Given the description of an element on the screen output the (x, y) to click on. 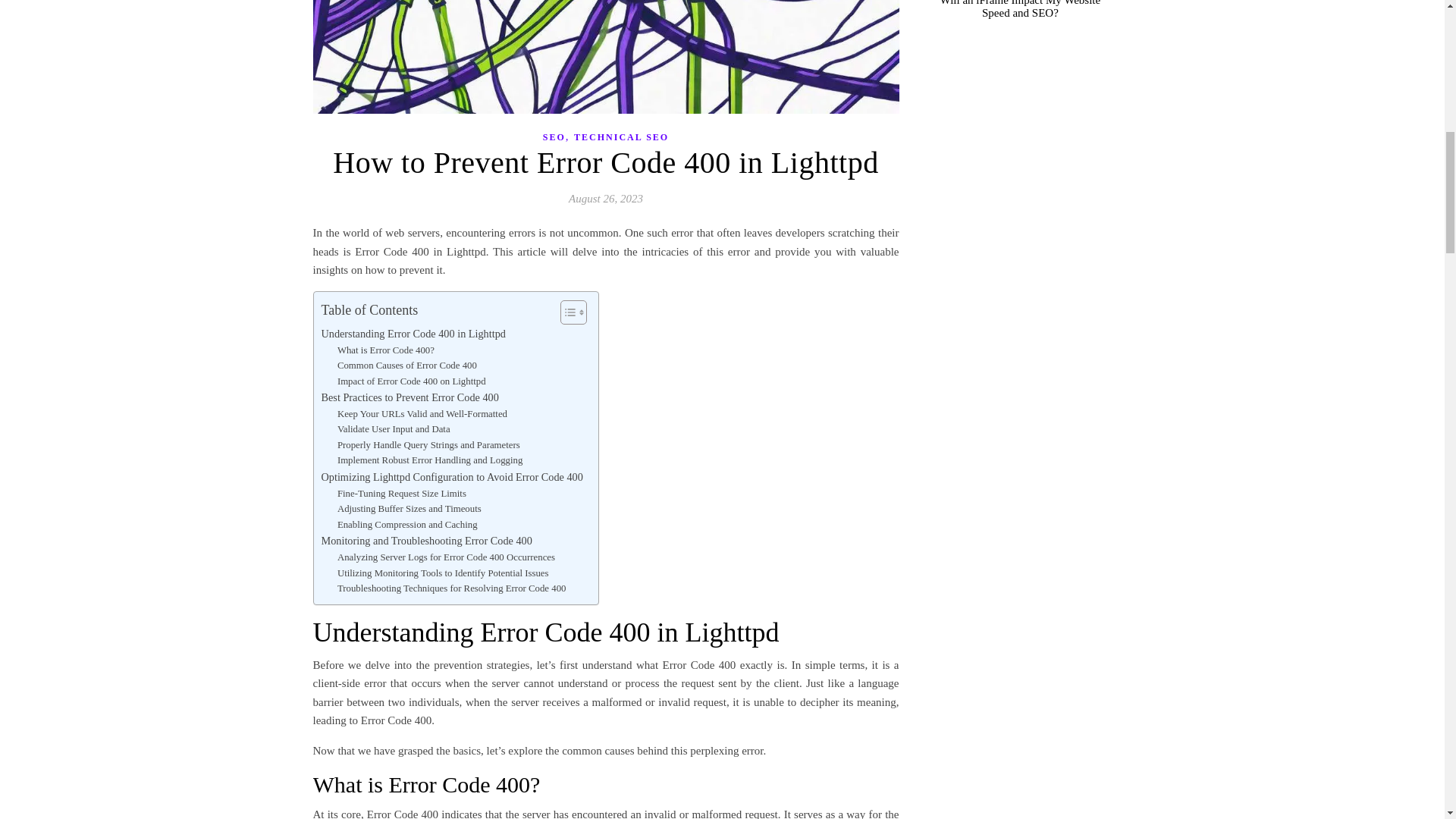
Best Practices to Prevent Error Code 400 (410, 397)
What is Error Code 400? (385, 350)
Common Causes of Error Code 400 (407, 365)
Understanding Error Code 400 in Lighttpd (413, 334)
TECHNICAL SEO (620, 137)
Understanding Error Code 400 in Lighttpd (413, 334)
How to Prevent Error Code 400 in Lighttpd 13 (605, 56)
Impact of Error Code 400 on Lighttpd (411, 381)
Common Causes of Error Code 400 (407, 365)
SEO (554, 137)
